Given the description of an element on the screen output the (x, y) to click on. 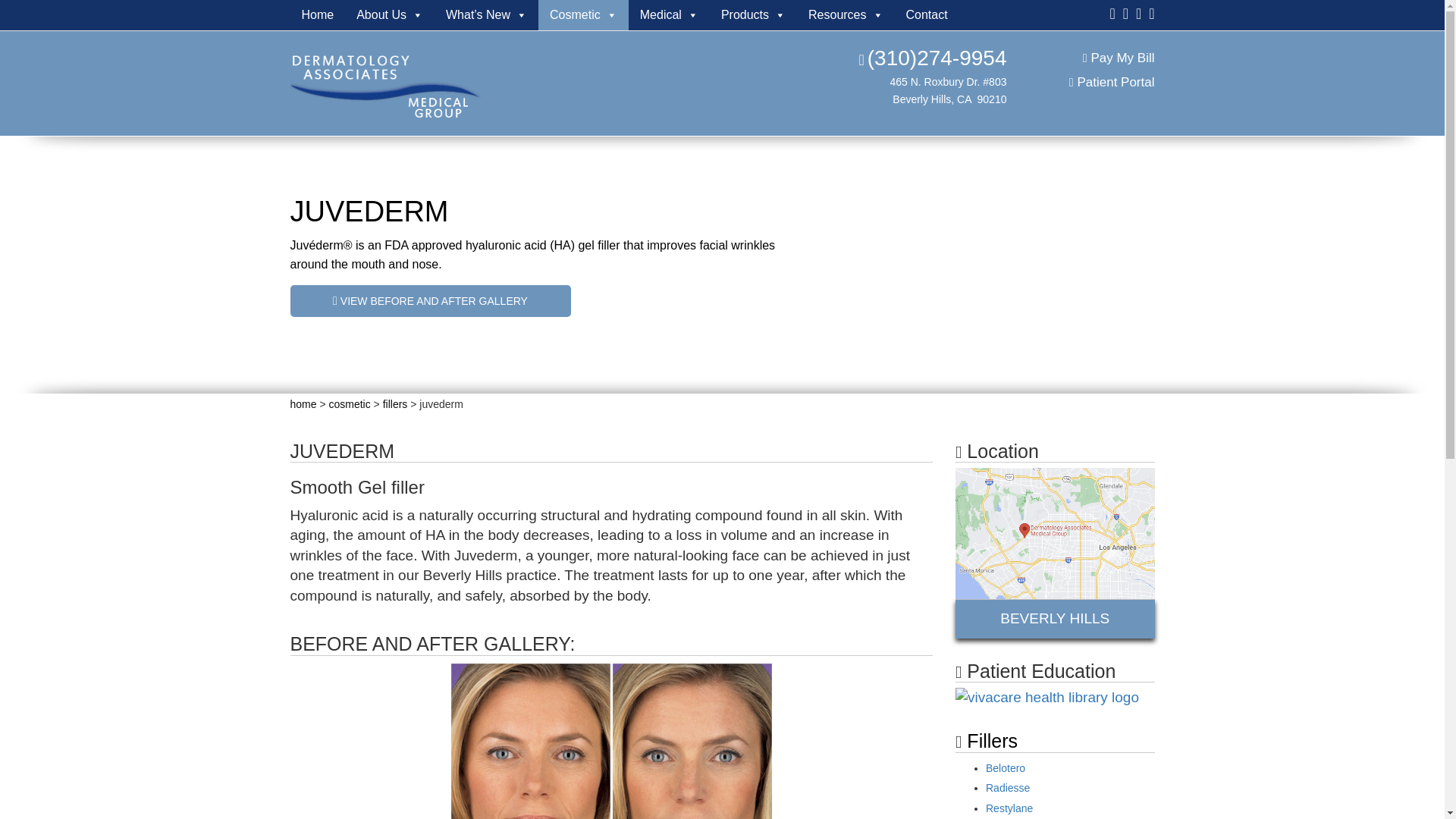
 VIEW BEFORE AND AFTER GALLERY (429, 300)
Cosmetic (583, 15)
Go to Cosmetic. (350, 404)
Home (317, 15)
About Us (389, 15)
Go to Fillers. (394, 404)
Go to Dermatology Associates Medical Group. (302, 404)
Medical (669, 15)
